Given the description of an element on the screen output the (x, y) to click on. 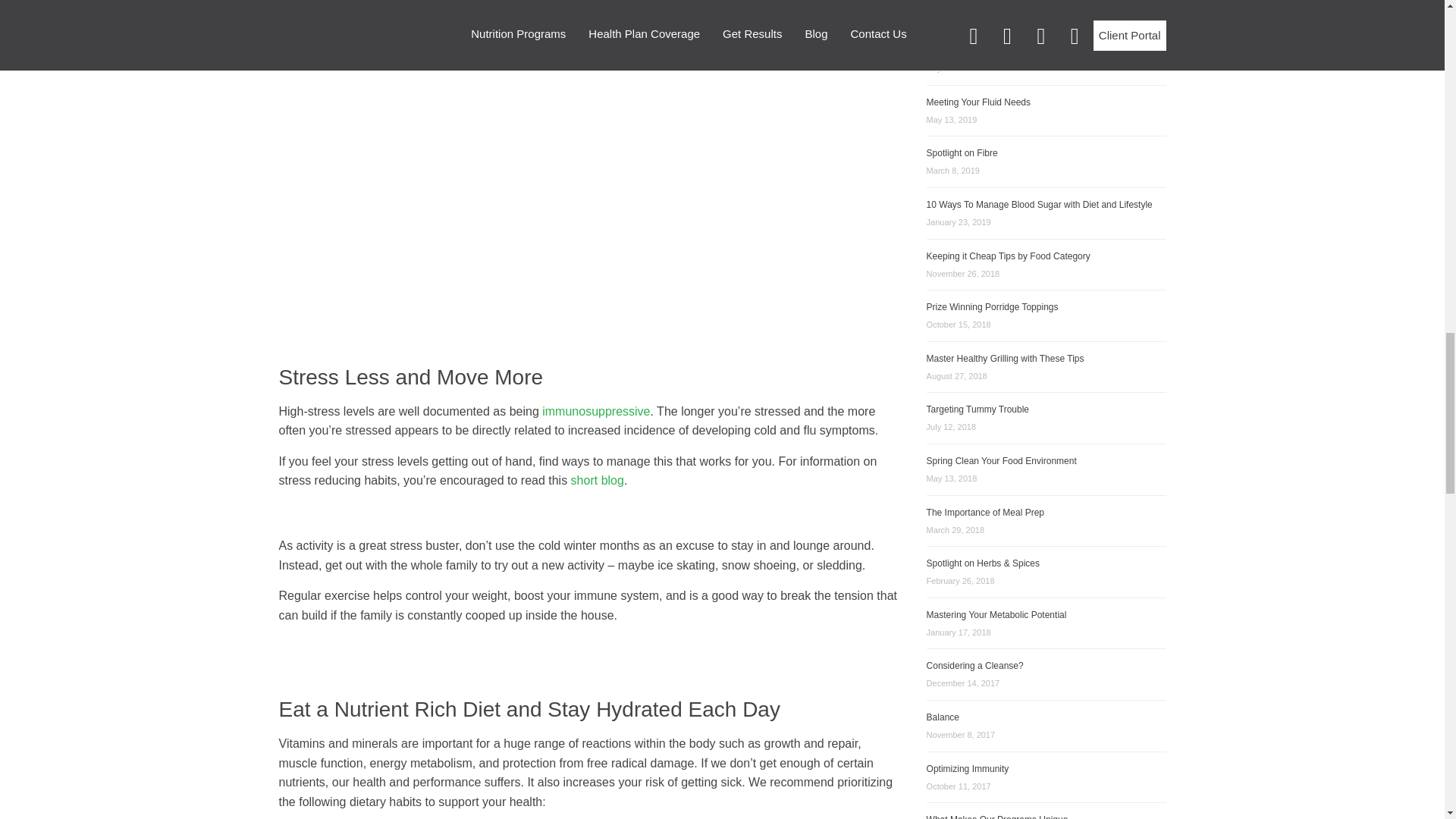
short blog (597, 480)
immunosuppressive (595, 410)
short blog (703, 43)
